Given the description of an element on the screen output the (x, y) to click on. 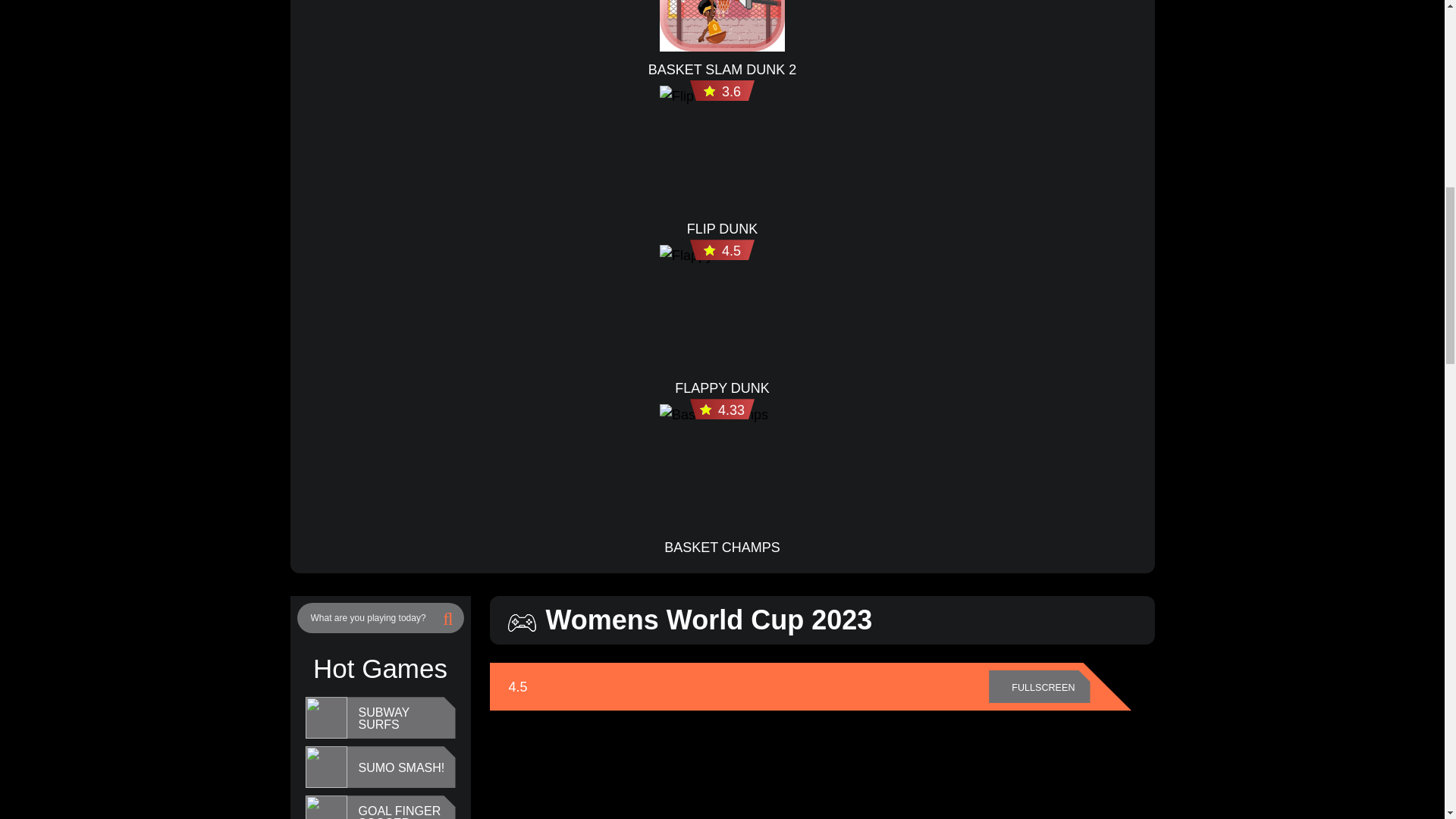
GOAL FINGER SOCCER (402, 812)
SUMO SMASH! (401, 767)
FLAPPY DUNK (722, 387)
BASKET CHAMPS (721, 547)
Fullscreen (1038, 686)
BASKET SLAM DUNK 2 (721, 69)
FLIP DUNK (722, 228)
FULLSCREEN (1038, 686)
SUBWAY SURFS (402, 718)
